Given the description of an element on the screen output the (x, y) to click on. 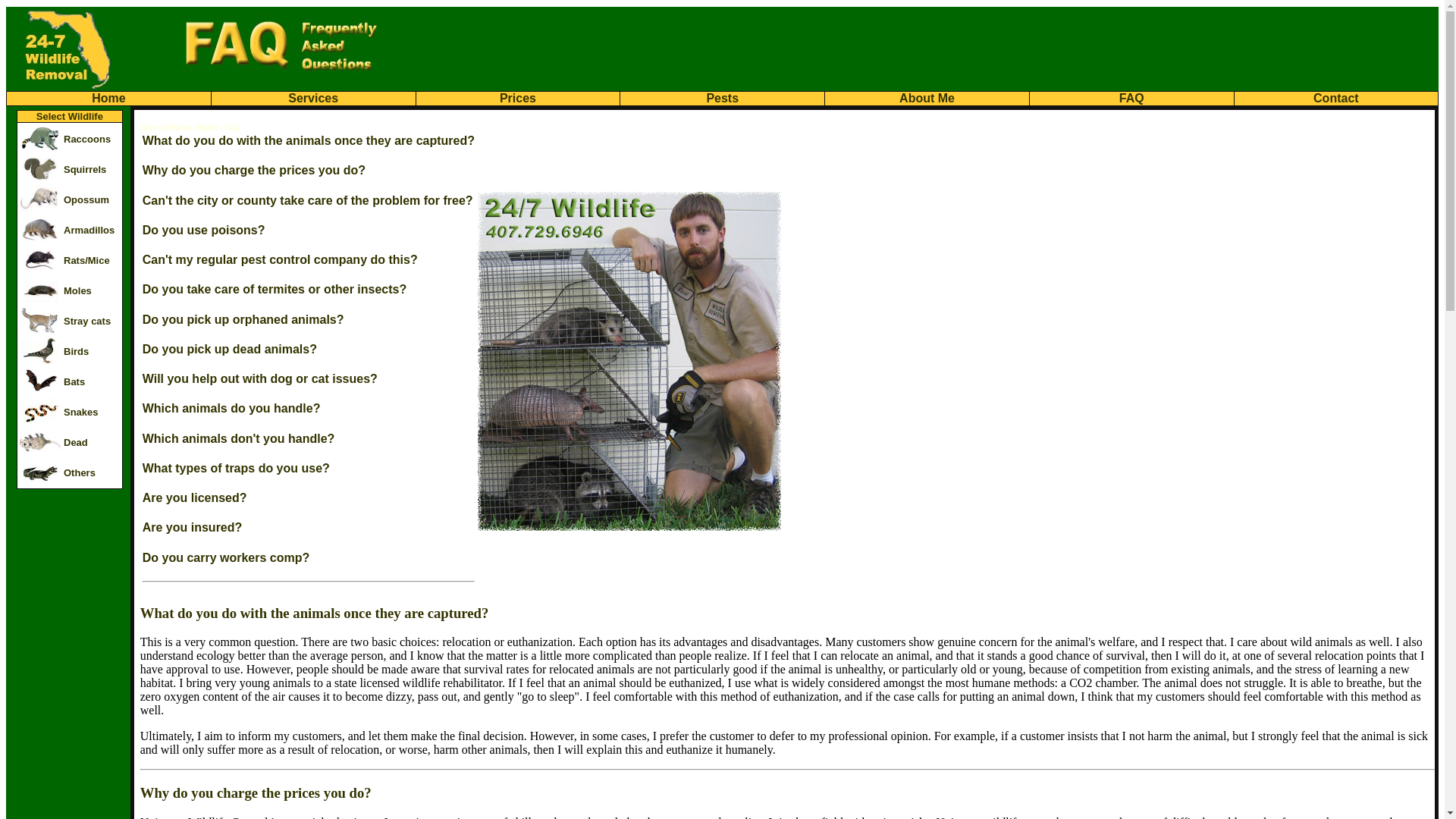
Moles Element type: text (77, 290)
Squirrels Element type: text (84, 169)
Are you insured? Element type: text (192, 526)
FAQ Element type: text (1131, 97)
Will you help out with dog or cat issues? Element type: text (259, 378)
Opossum Element type: text (86, 199)
Home Element type: text (108, 97)
Do you pick up dead animals? Element type: text (229, 348)
Which animals do you handle? Element type: text (231, 407)
Raccoons Element type: text (86, 138)
Contact Element type: text (1335, 97)
Do you use poisons? Element type: text (203, 229)
Snakes Element type: text (80, 411)
Stray cats Element type: text (86, 320)
Can't the city or county take care of the problem for free? Element type: text (307, 200)
Do you pick up orphaned animals? Element type: text (243, 319)
About Me Element type: text (926, 97)
Birds Element type: text (75, 351)
Why do you charge the prices you do? Element type: text (253, 169)
Others Element type: text (79, 472)
Services Element type: text (313, 97)
Can't my regular pest control company do this? Element type: text (279, 259)
Do you carry workers comp? Element type: text (226, 557)
Rats/Mice Element type: text (86, 260)
Pests Element type: text (722, 97)
Dead Element type: text (75, 442)
Bats Element type: text (73, 381)
Which animals don't you handle? Element type: text (238, 438)
Prices Element type: text (517, 97)
Are you licensed? Element type: text (194, 497)
What do you do with the animals once they are captured? Element type: text (308, 140)
What types of traps do you use? Element type: text (235, 467)
Do you take care of termites or other insects? Element type: text (274, 288)
Armadillos Element type: text (88, 229)
